Given the description of an element on the screen output the (x, y) to click on. 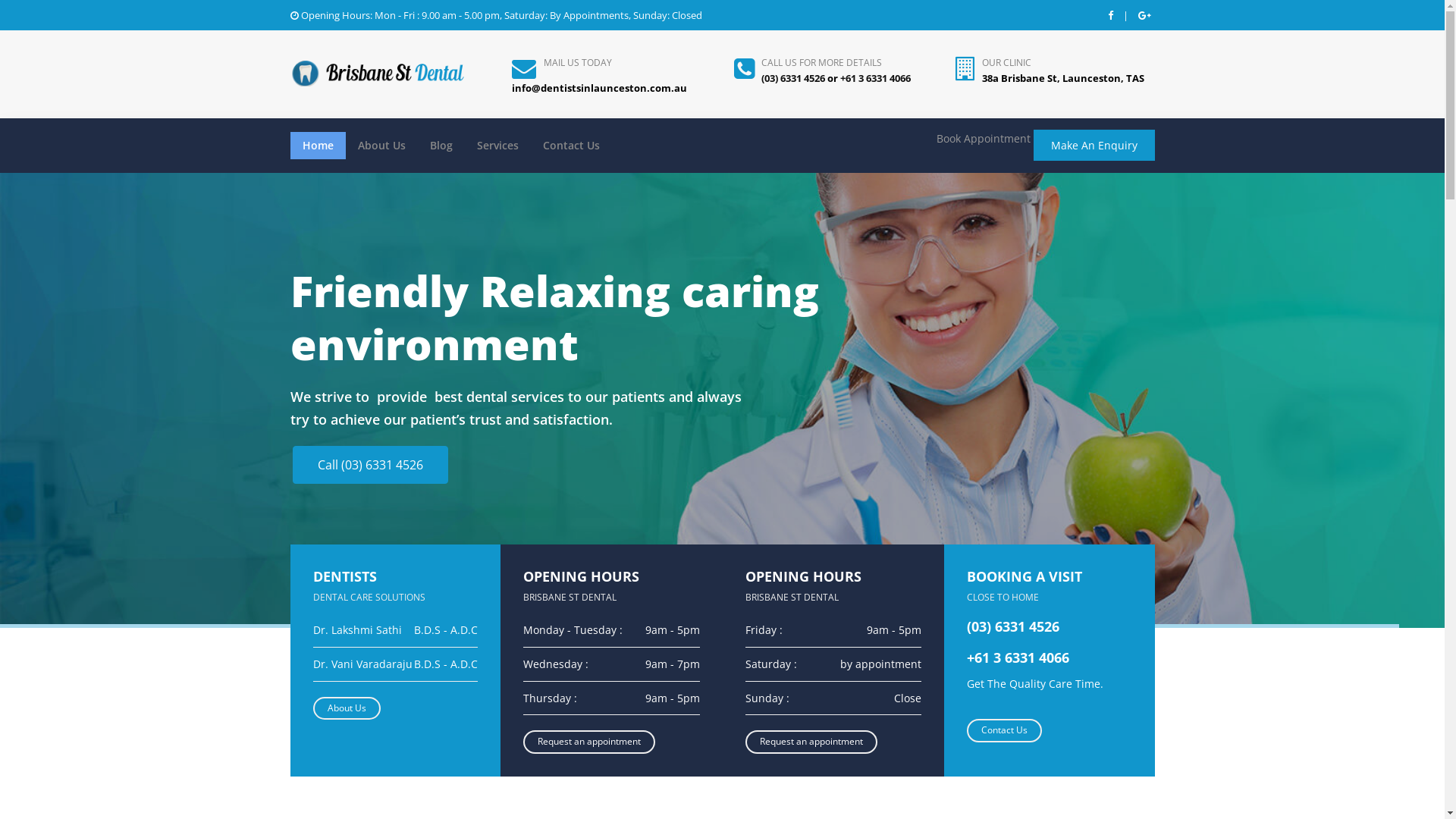
Book Appointment Element type: text (982, 137)
Request an appointment Element type: text (810, 741)
Contact Us Element type: text (570, 145)
About Us Element type: text (345, 708)
OUR CLINIC Element type: text (1006, 62)
CALL US FOR MORE DETAILS Element type: text (821, 62)
Contact Us Element type: text (1003, 730)
Make An Enquiry Element type: text (1093, 144)
MAIL US TODAY Element type: text (577, 62)
Call (03) 6331 4526 Element type: text (370, 464)
Home Element type: text (317, 145)
Blog Element type: text (440, 145)
+61 3 6331 4066 Element type: text (875, 77)
Services Element type: text (497, 145)
About Us Element type: text (381, 145)
(03) 6331 4526 Element type: text (793, 77)
Request an appointment Element type: text (589, 741)
